Given the description of an element on the screen output the (x, y) to click on. 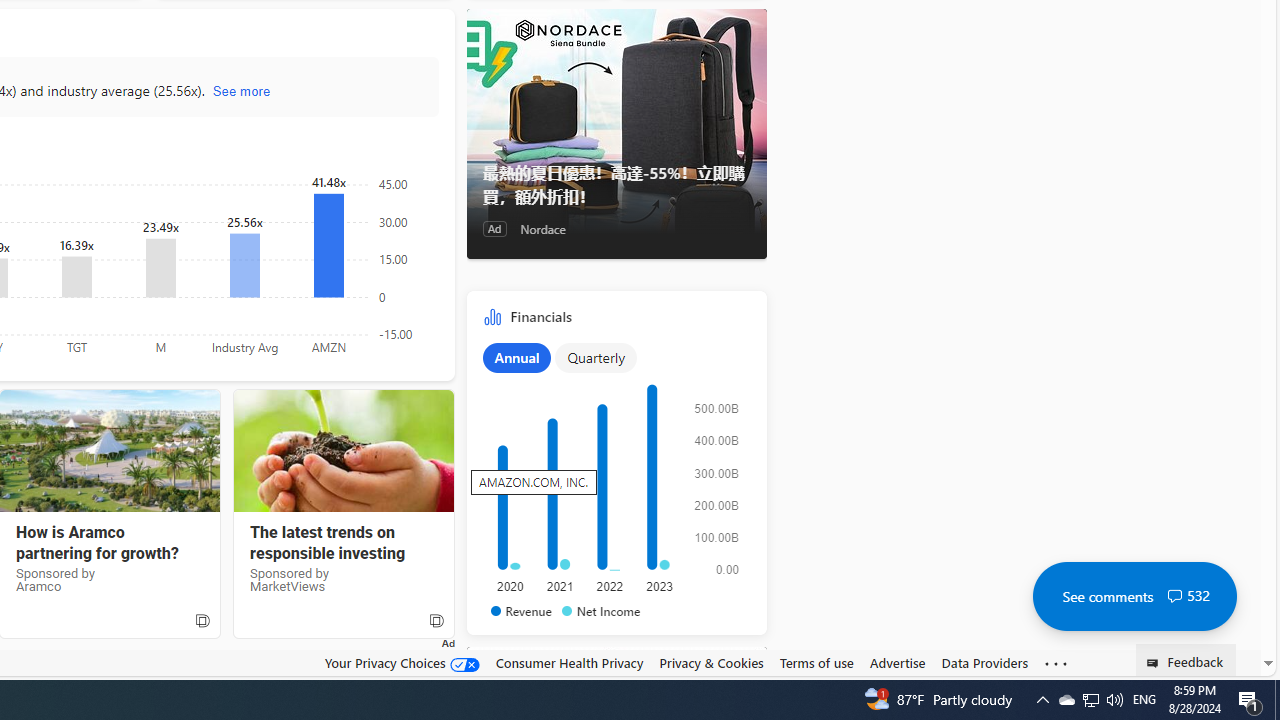
Advertise (897, 662)
Consumer Health Privacy (569, 663)
See comments 532 (1133, 596)
Financials (616, 468)
Consumer Health Privacy (569, 662)
Advertise (897, 663)
Feedback (1186, 659)
Privacy & Cookies (711, 663)
Quarterly (596, 357)
Annual (516, 357)
Terms of use (816, 663)
See more (1055, 664)
